Given the description of an element on the screen output the (x, y) to click on. 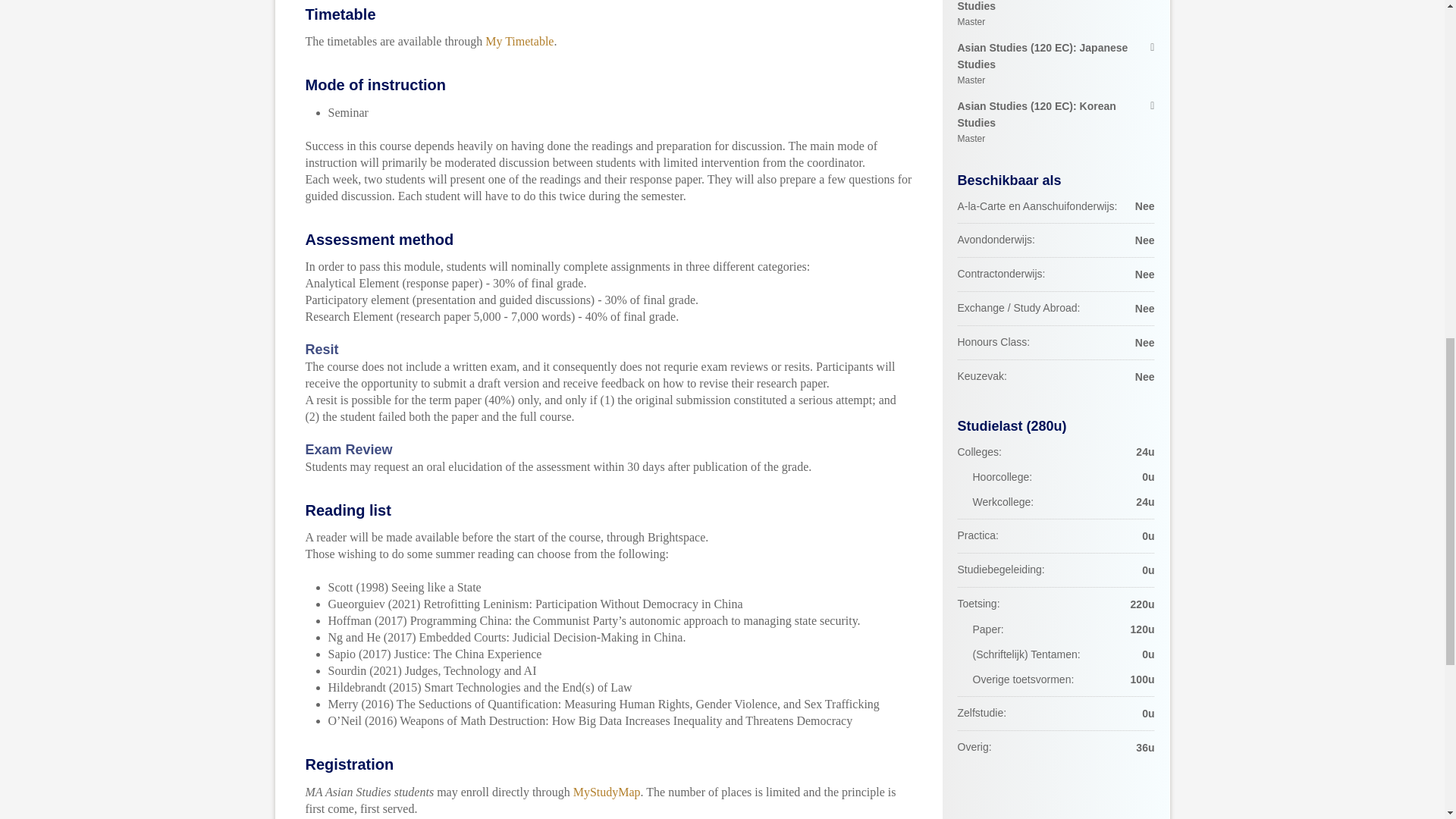
MyStudyMap (606, 791)
My Timetable (518, 41)
